Given the description of an element on the screen output the (x, y) to click on. 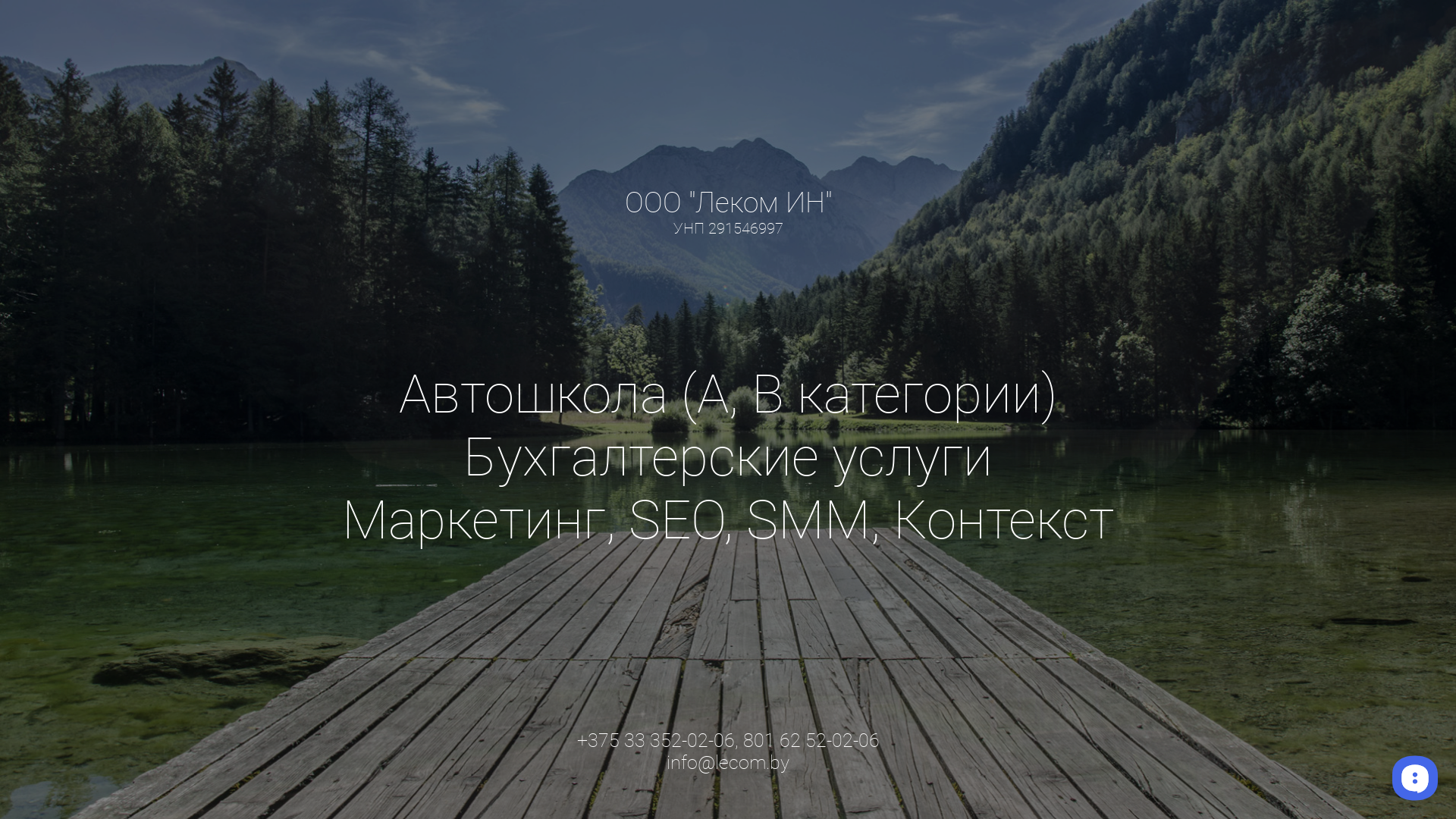
__replain_widget_iframe Element type: hover (1413, 776)
